Given the description of an element on the screen output the (x, y) to click on. 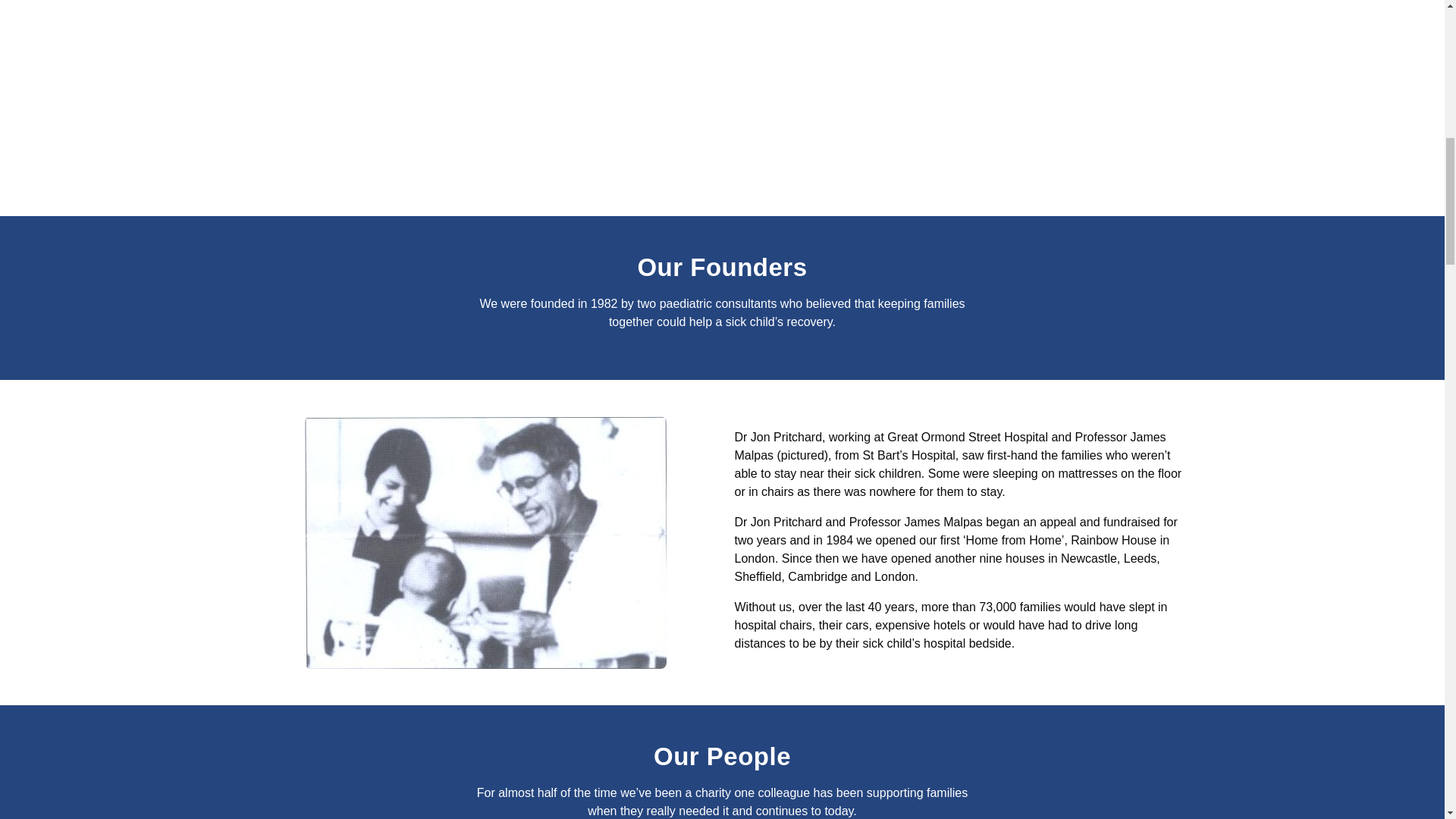
Our 40th anniversary appeal (485, 87)
